Given the description of an element on the screen output the (x, y) to click on. 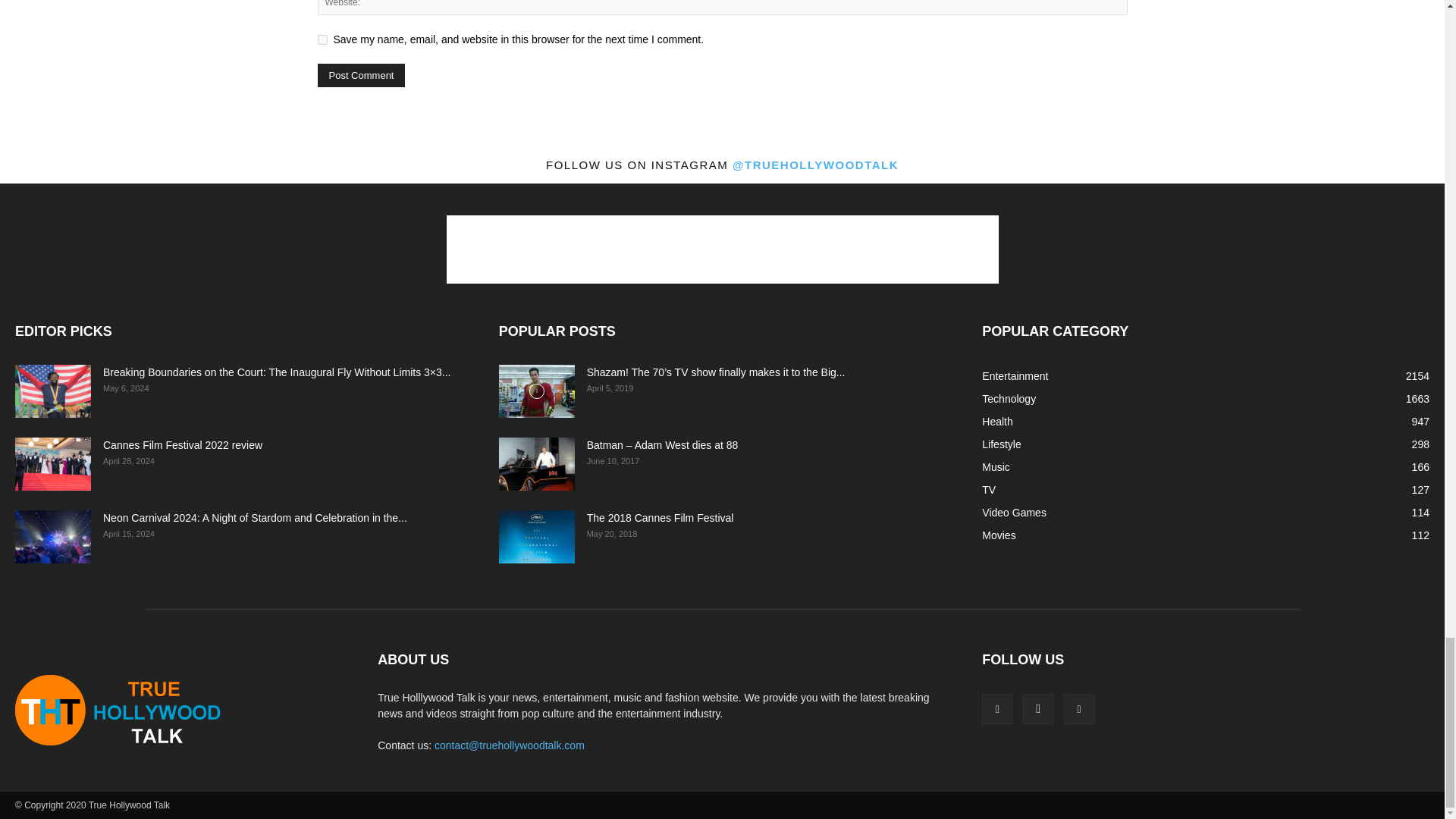
Post Comment (360, 74)
yes (321, 40)
